Given the description of an element on the screen output the (x, y) to click on. 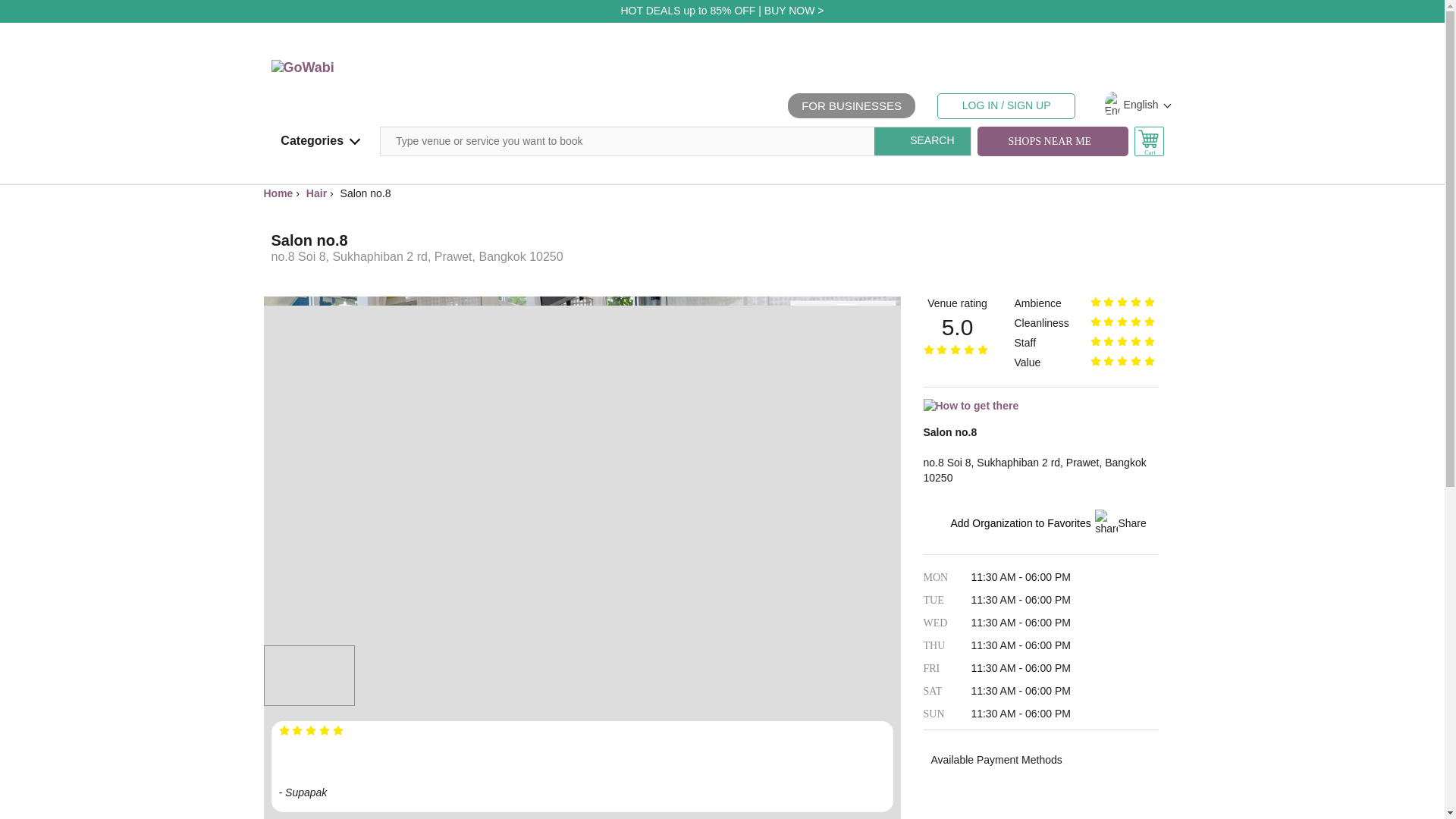
FOR BUSINESSES (851, 105)
Search By My Location (1049, 141)
Cart (1148, 141)
English (1127, 105)
Allow Online Payment (942, 786)
